Given the description of an element on the screen output the (x, y) to click on. 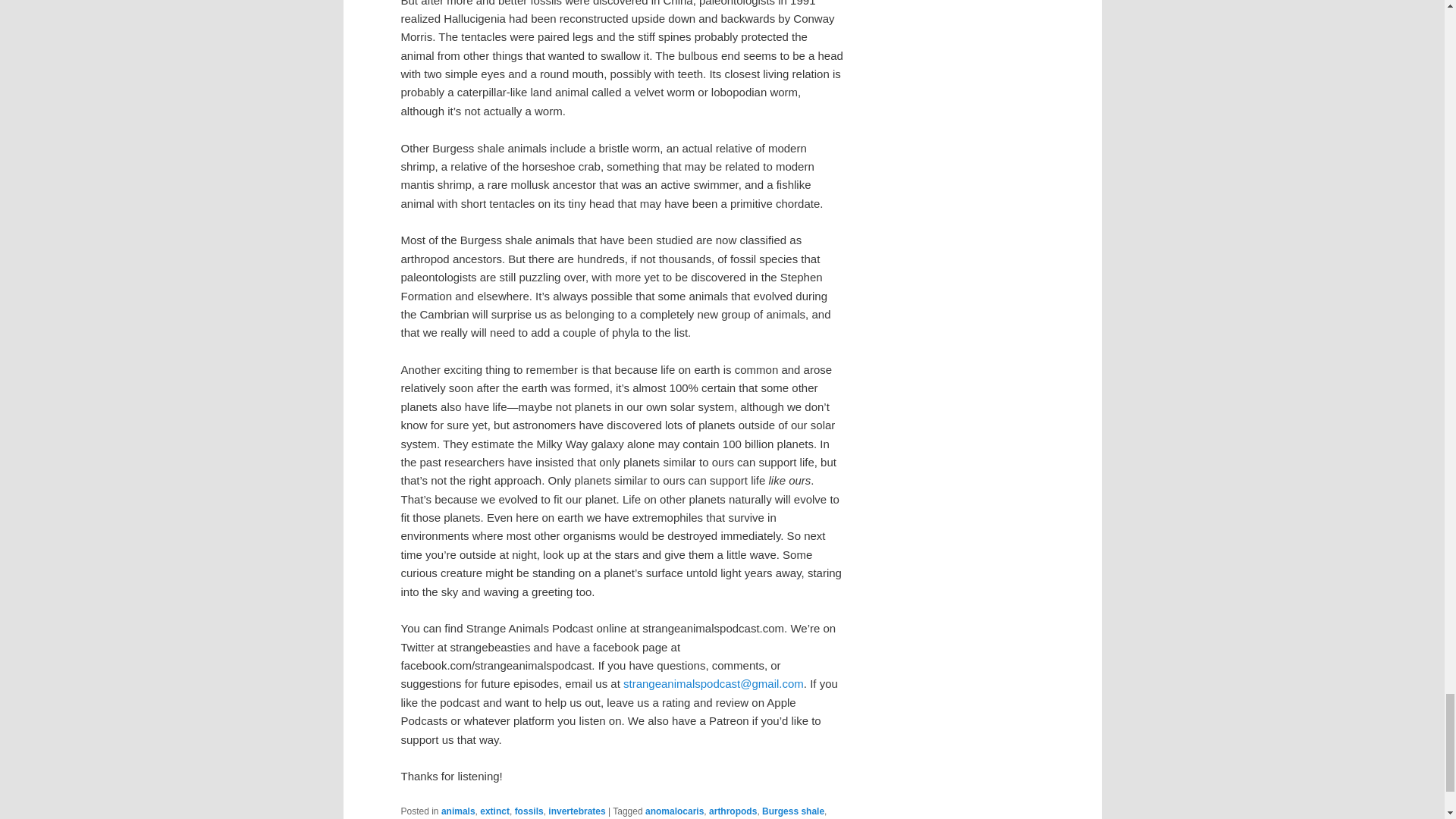
anomalocaris (674, 810)
animals (458, 810)
fossils (529, 810)
arthropods (733, 810)
extinct (494, 810)
invertebrates (576, 810)
Burgess shale (792, 810)
